Given the description of an element on the screen output the (x, y) to click on. 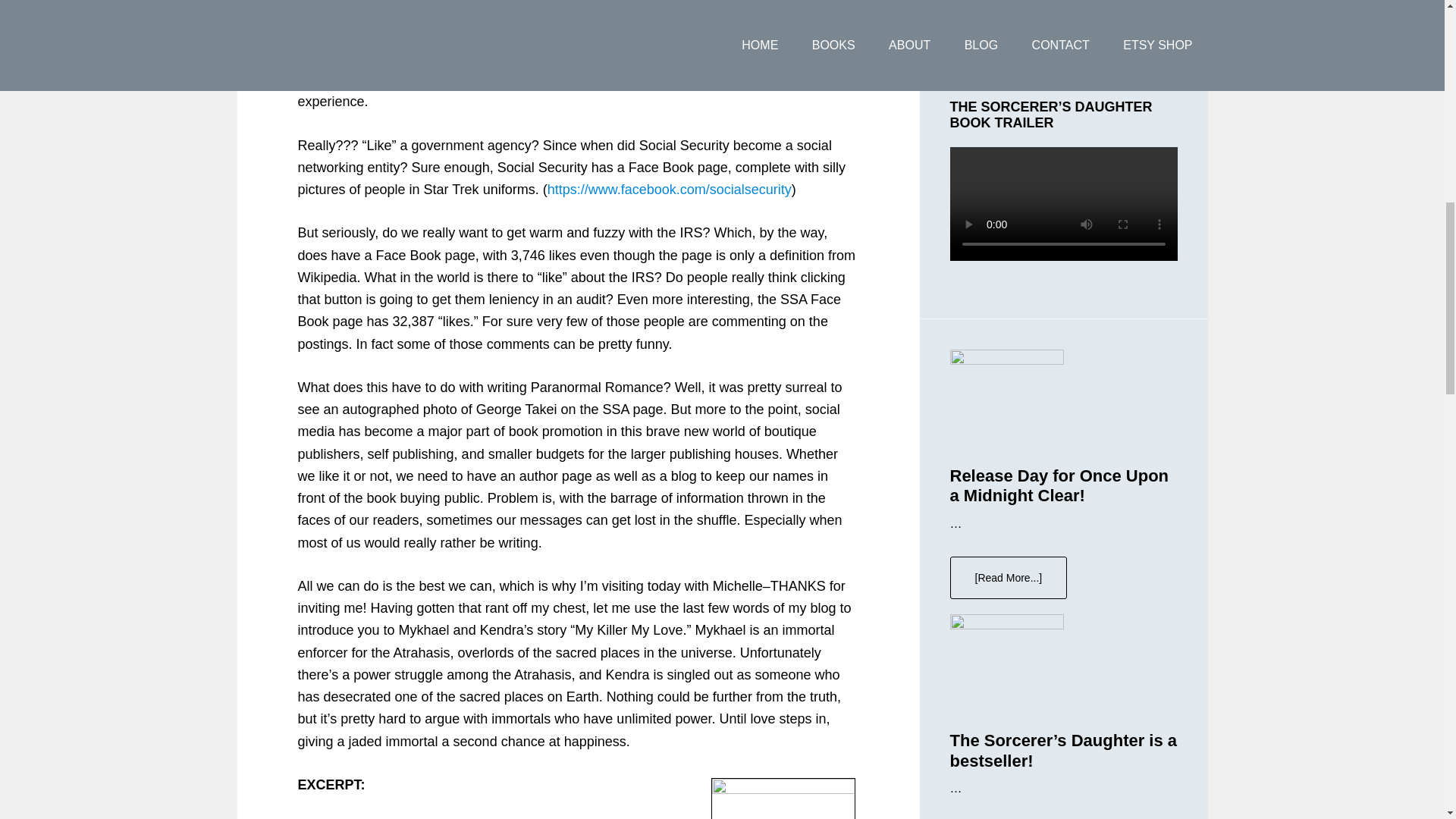
MyKillerMyLove (783, 798)
Release Day for Once Upon a Midnight Clear! (1059, 485)
